Given the description of an element on the screen output the (x, y) to click on. 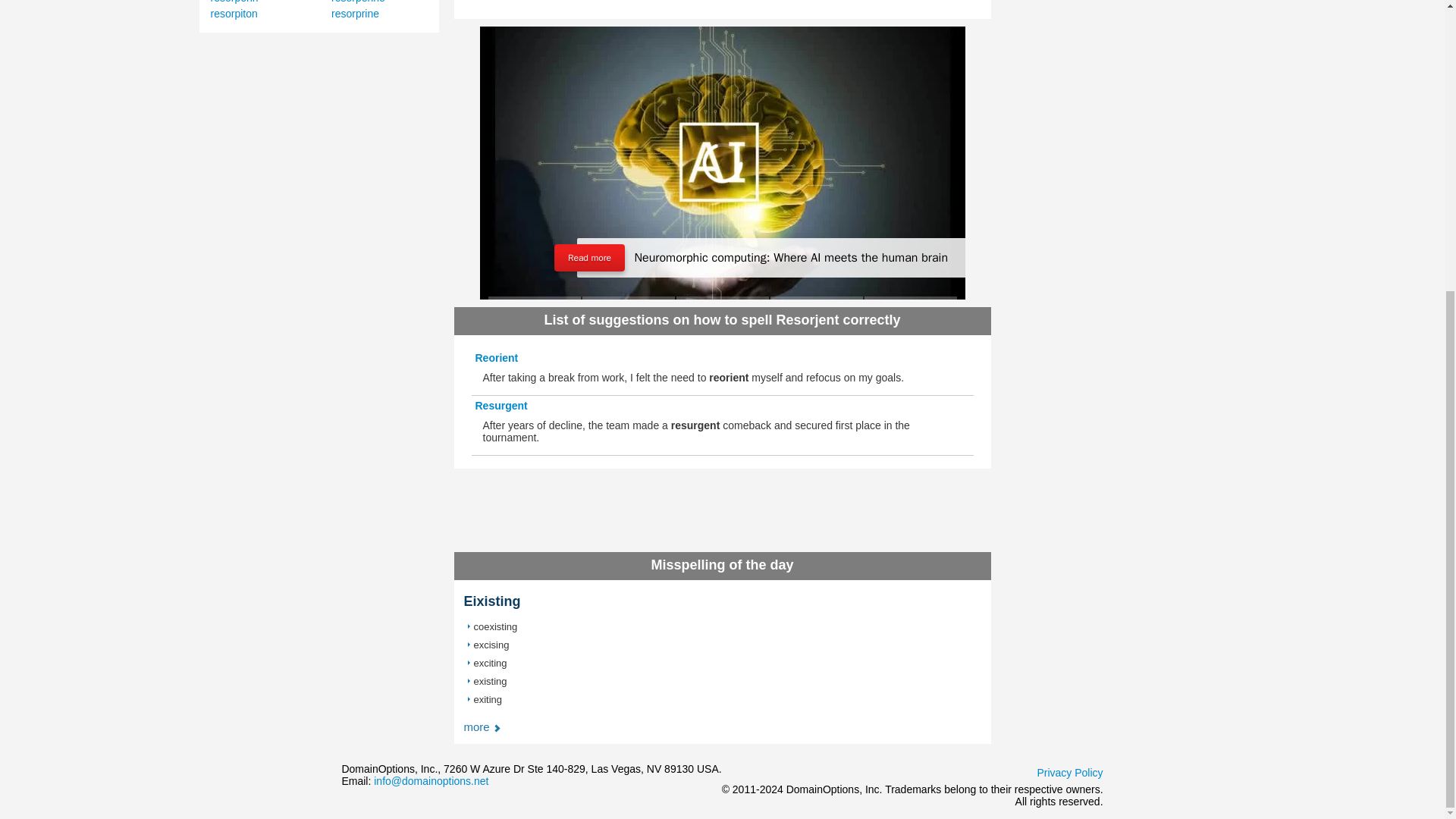
resorprine (354, 13)
resorpiton (234, 13)
resorperine (358, 2)
resorperin (235, 2)
